Given the description of an element on the screen output the (x, y) to click on. 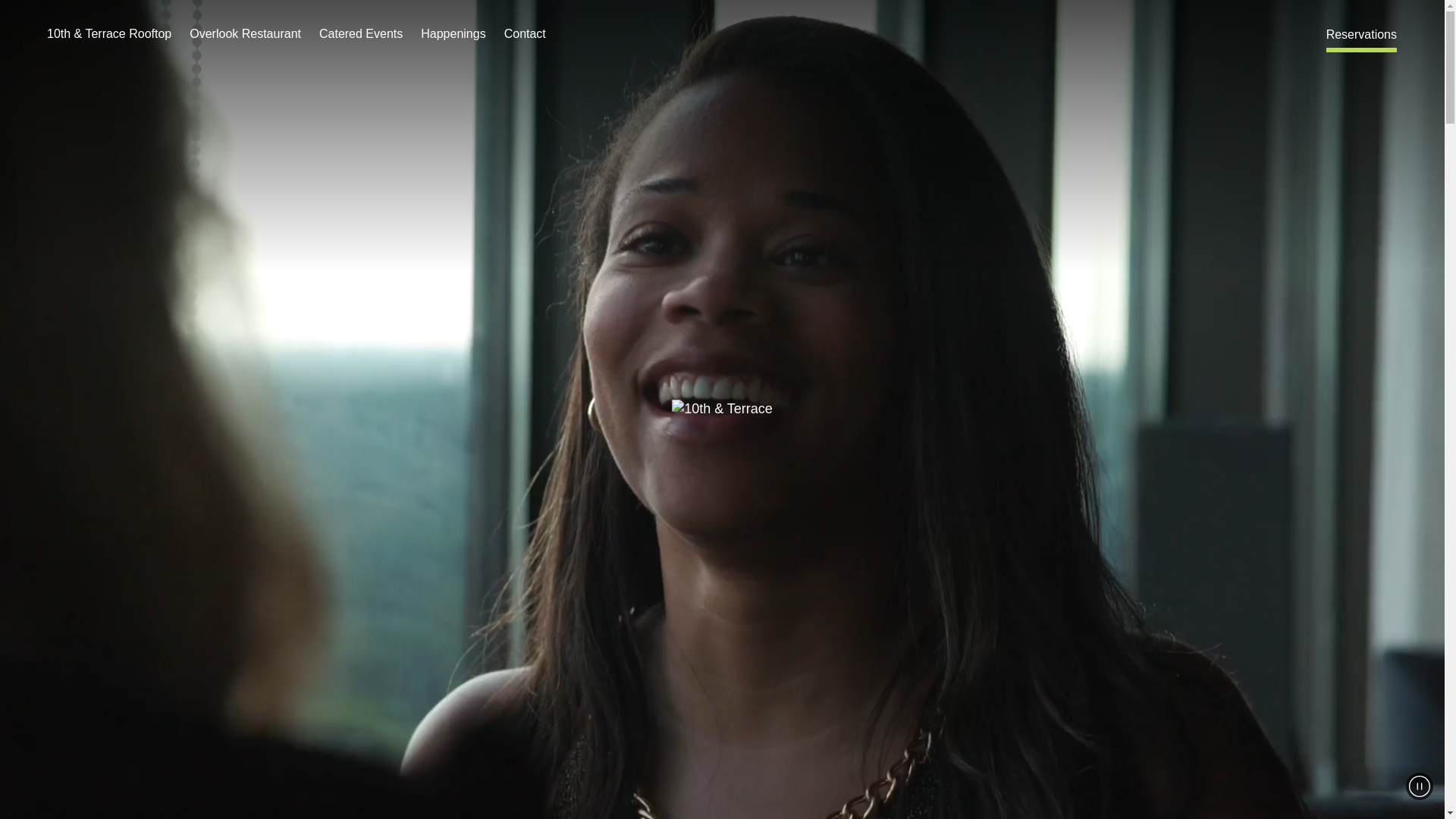
Pause Video Element type: text (1419, 786)
Contact Element type: text (525, 34)
Catered Events Element type: text (360, 34)
10th & Terrace Rooftop Element type: text (109, 34)
Reservations Element type: text (1361, 34)
Overlook Restaurant Element type: text (245, 34)
Happenings Element type: text (452, 34)
